Given the description of an element on the screen output the (x, y) to click on. 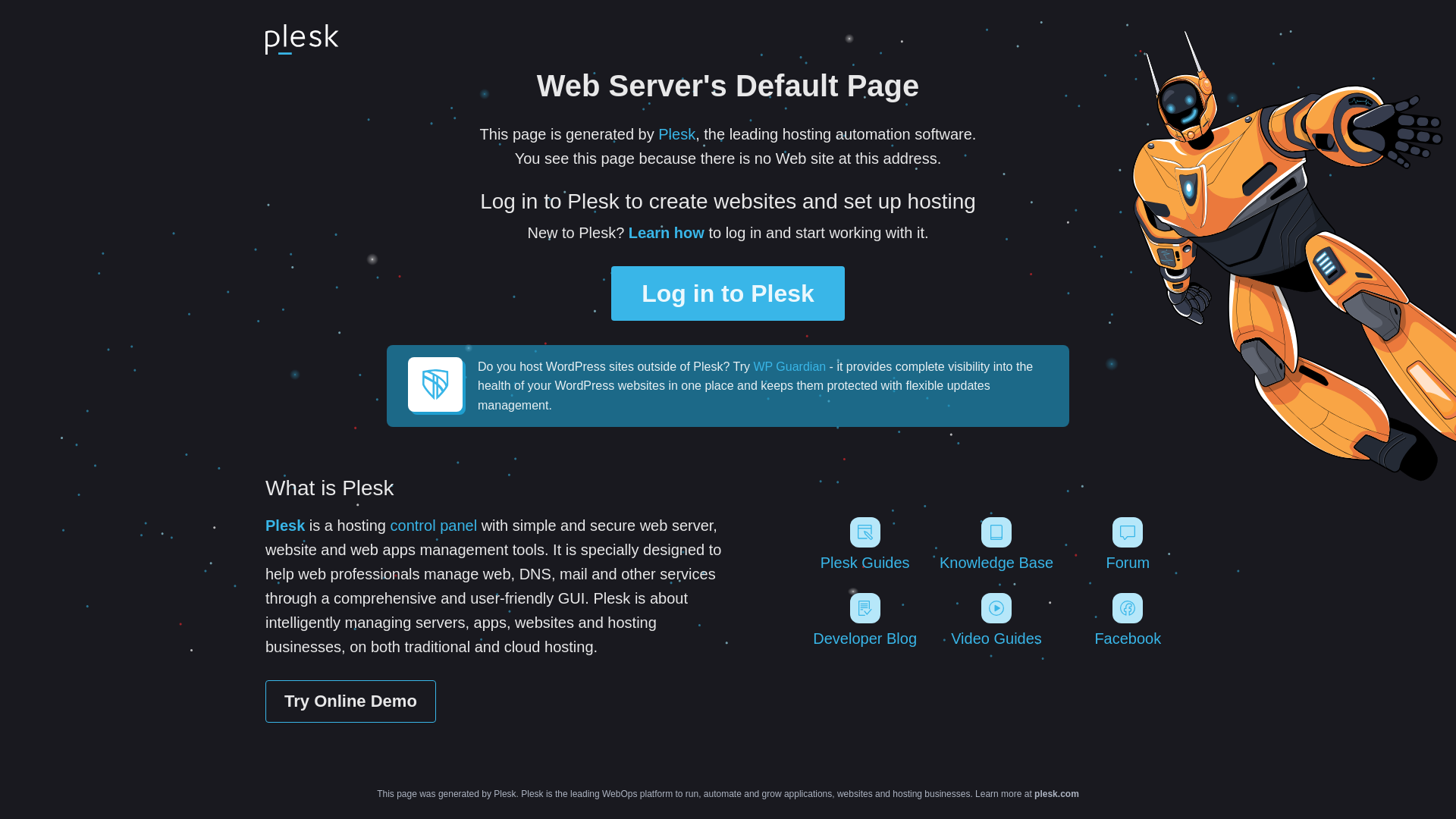
Plesk Element type: text (676, 133)
plesk.com Element type: text (1056, 793)
Plesk Guides Element type: text (864, 544)
Video Guides Element type: text (995, 619)
Forum Element type: text (1127, 544)
Try Online Demo Element type: text (350, 701)
Learn how Element type: text (666, 232)
Knowledge Base Element type: text (995, 544)
Log in to Plesk Element type: text (727, 293)
Developer Blog Element type: text (864, 619)
control panel Element type: text (433, 525)
WP Guardian Element type: text (789, 366)
Facebook Element type: text (1127, 619)
Plesk Element type: text (284, 525)
